Given the description of an element on the screen output the (x, y) to click on. 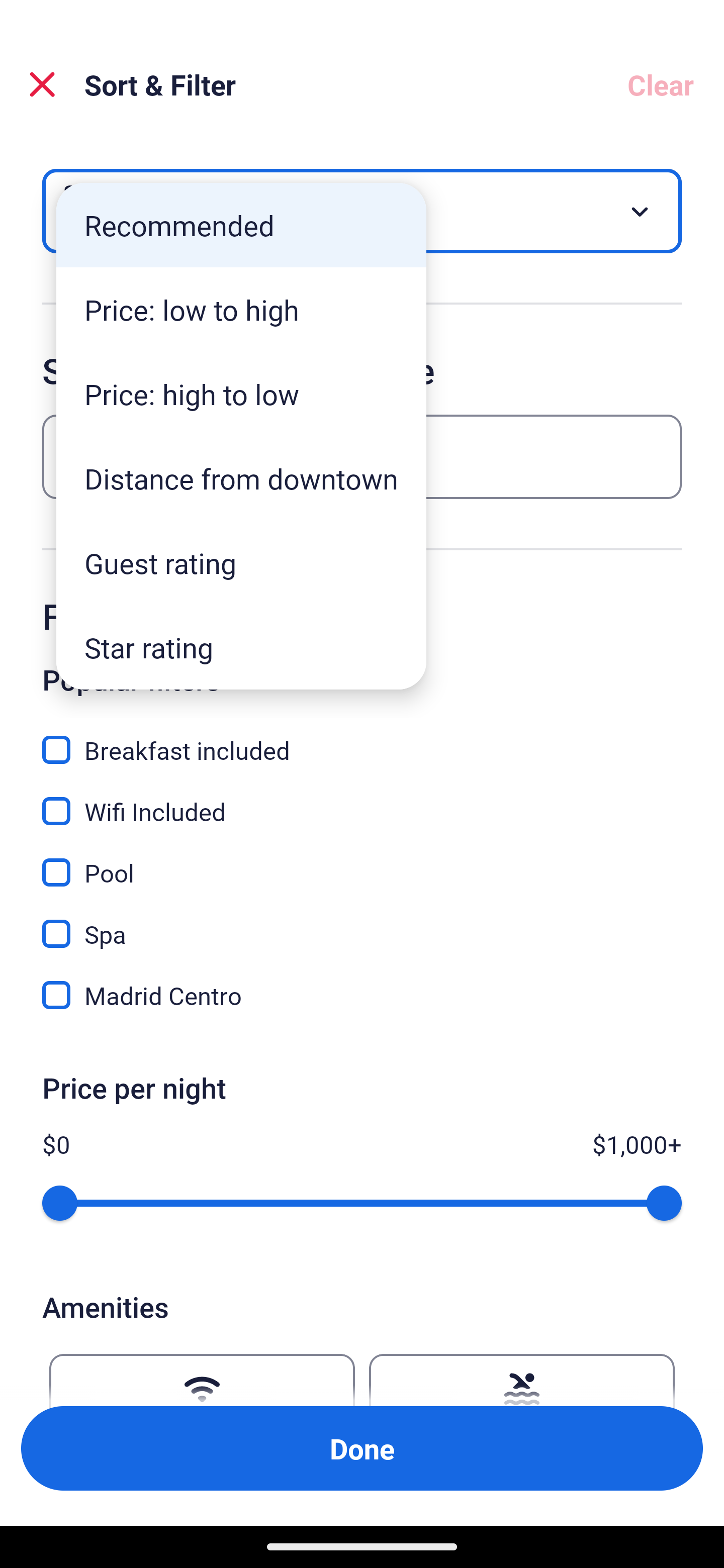
Price: low to high (241, 309)
Price: high to low (241, 393)
Distance from downtown (241, 477)
Guest rating (241, 562)
Star rating (241, 647)
